Given the description of an element on the screen output the (x, y) to click on. 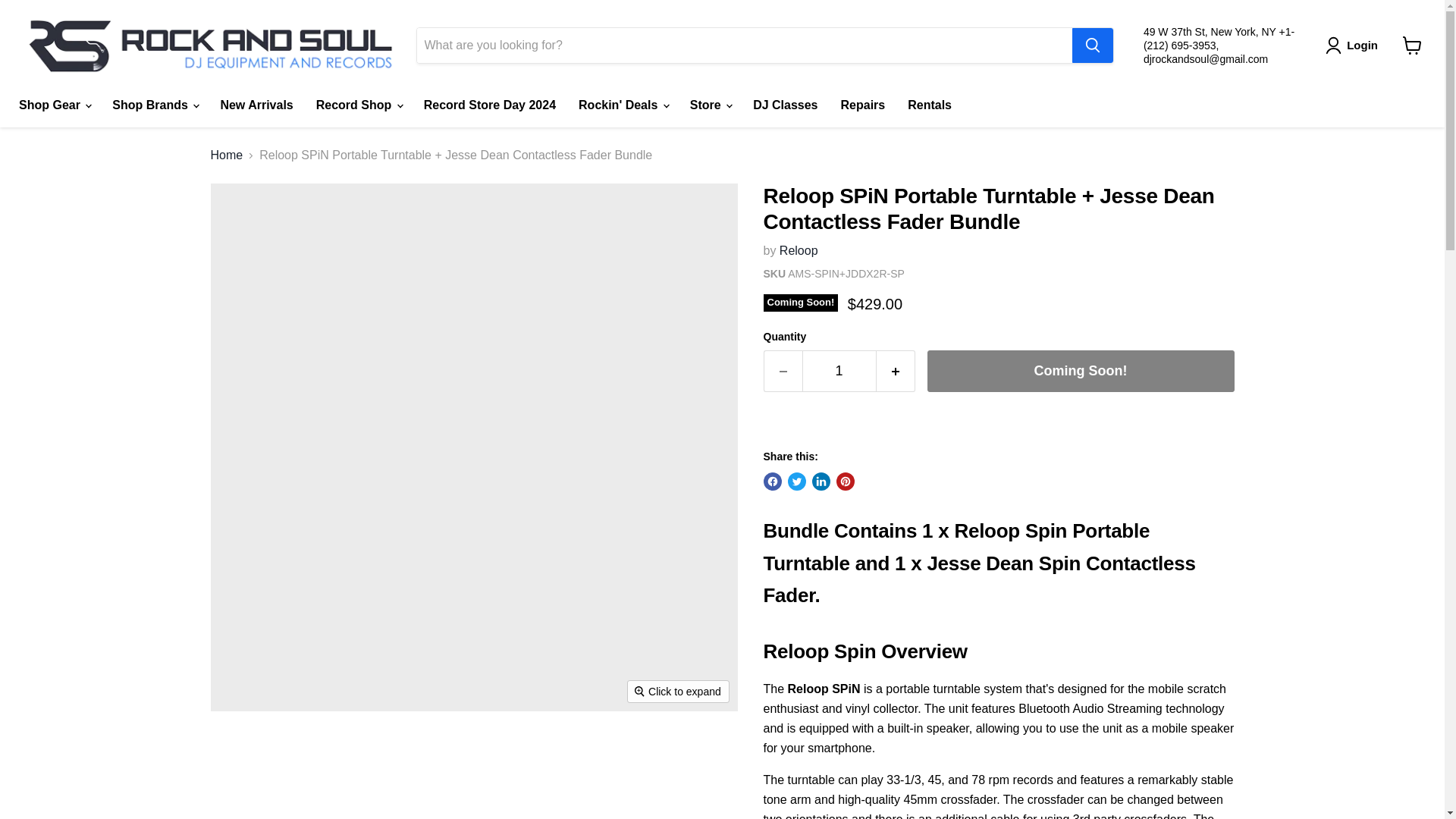
View cart (1411, 45)
Login (1354, 45)
Reloop (798, 250)
1 (839, 371)
